Given the description of an element on the screen output the (x, y) to click on. 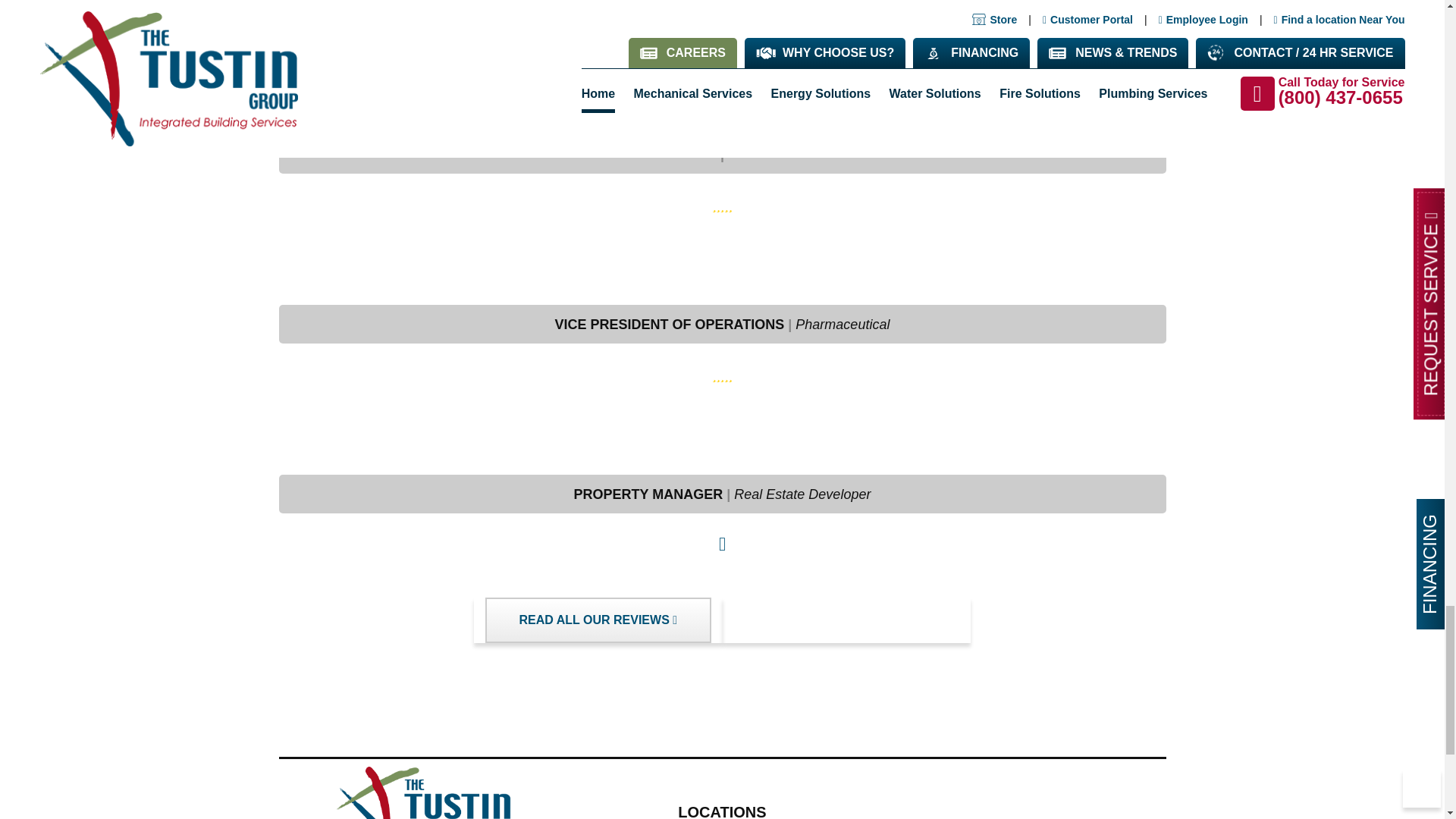
The Tustin Group (423, 792)
